Given the description of an element on the screen output the (x, y) to click on. 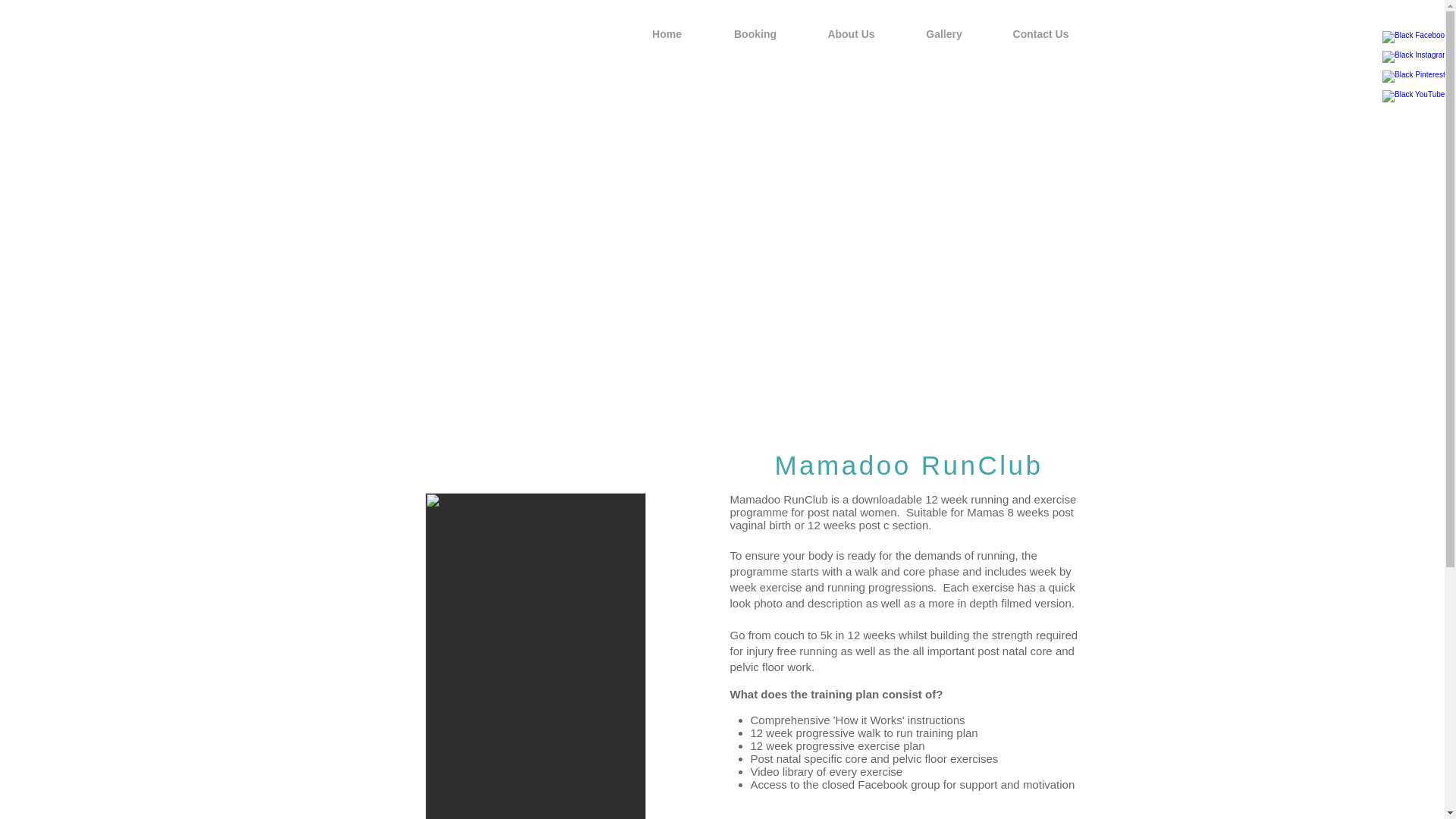
Contact Us (1040, 33)
About Us (851, 33)
Home (665, 33)
Booking (754, 33)
Gallery (944, 33)
